Given the description of an element on the screen output the (x, y) to click on. 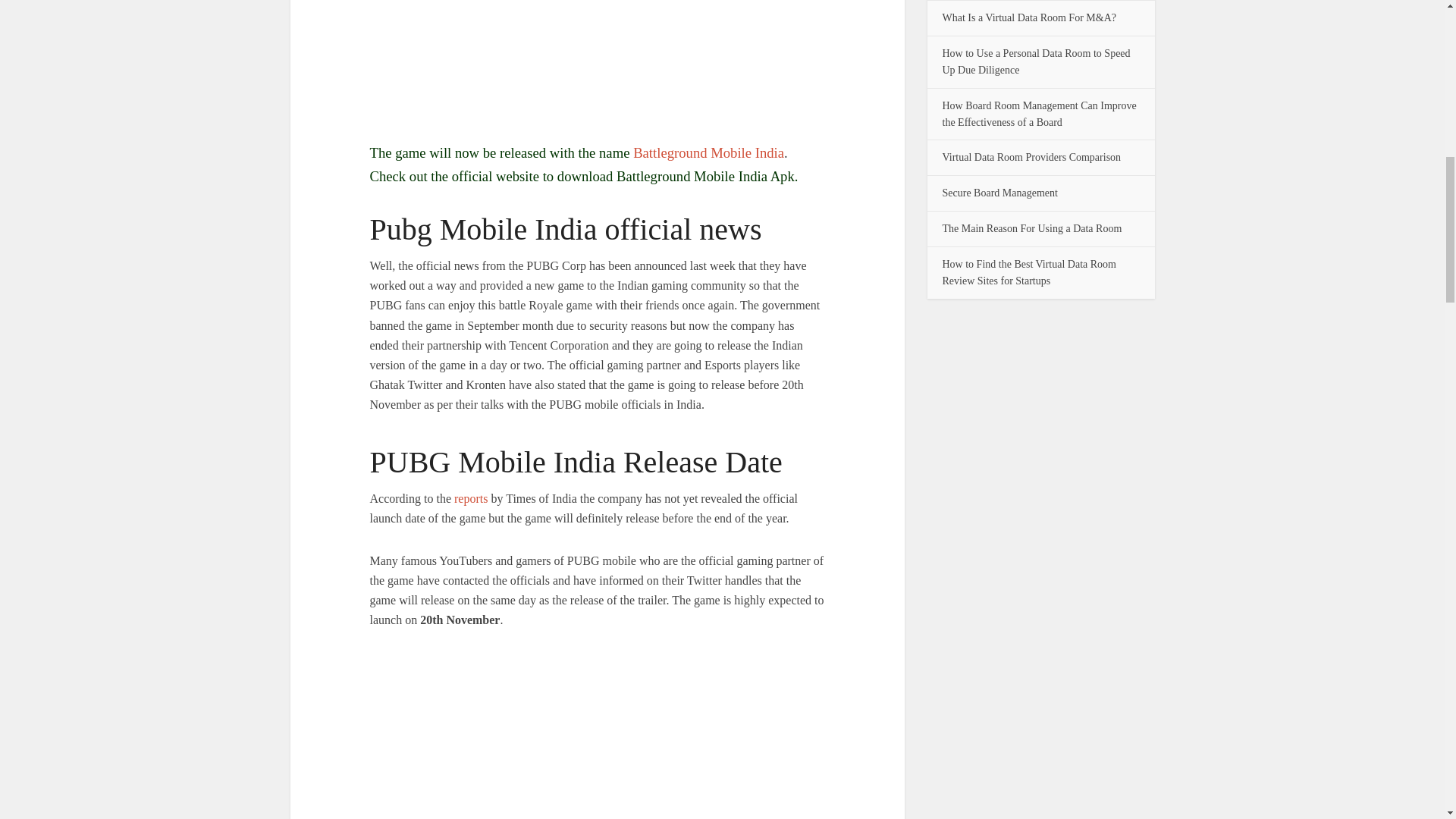
Advertisement (597, 67)
reports (470, 498)
Battleground Mobile India (708, 152)
